Given the description of an element on the screen output the (x, y) to click on. 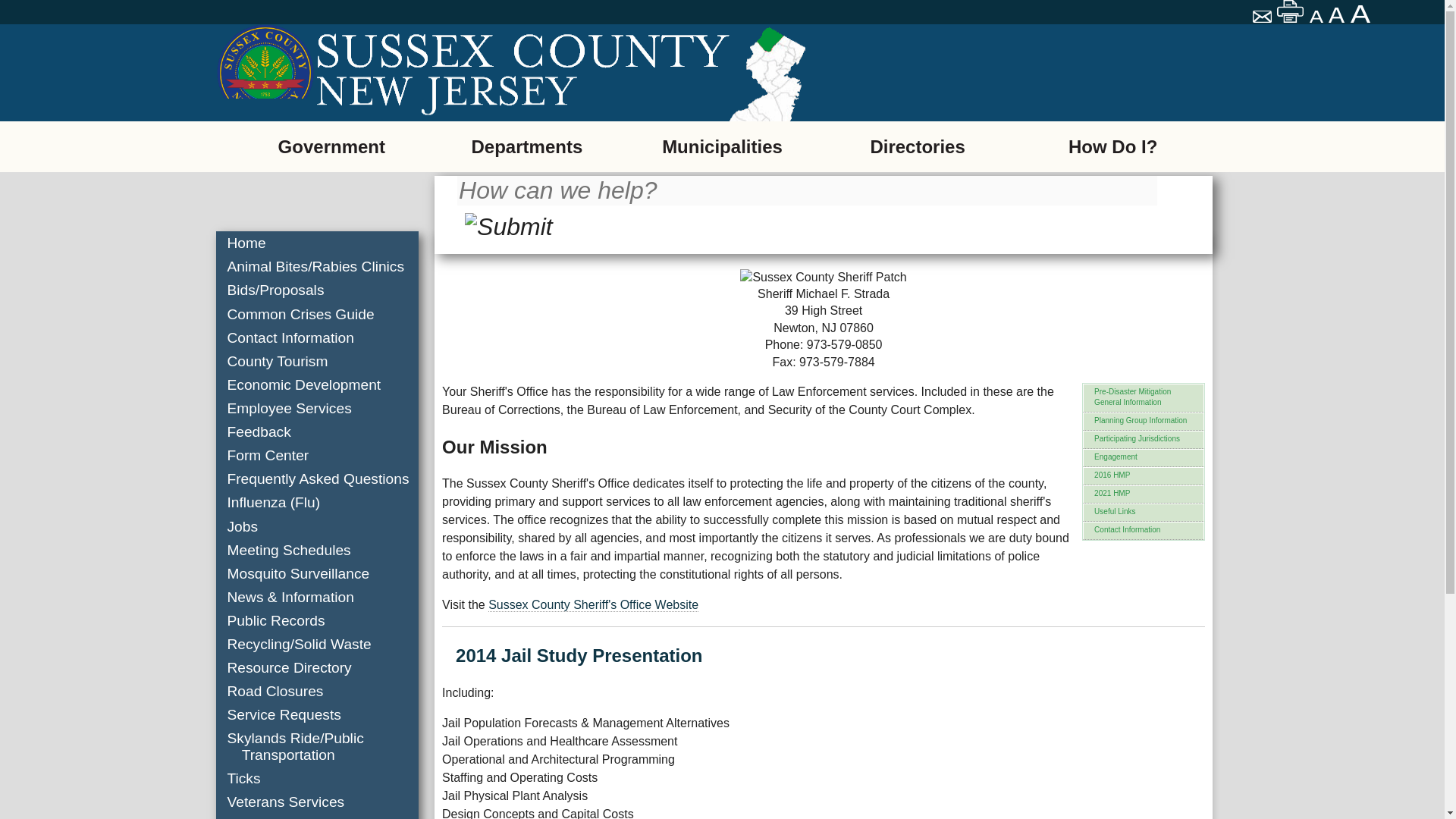
Print page (1291, 11)
Large font size (1362, 13)
Visit our RSS feed (264, 136)
Follow us on Twitter (406, 136)
Visit our YouTube channel (469, 136)
Visit our Instagram page (539, 136)
Medium font size (1336, 14)
Email page (1263, 18)
Sign Up for emails from Sussex County (183, 136)
Small font size (1316, 16)
